Given the description of an element on the screen output the (x, y) to click on. 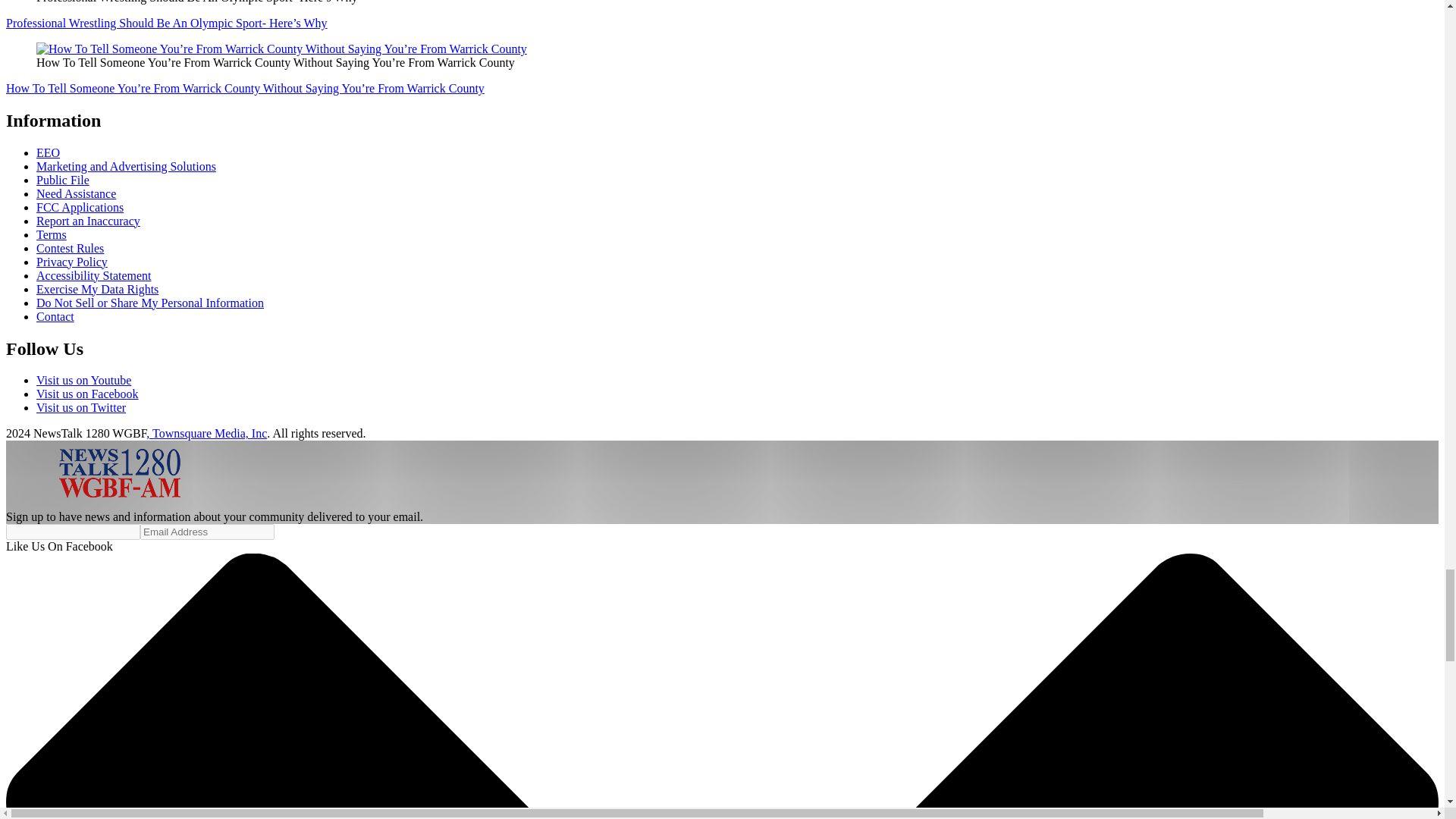
Email Address (207, 531)
